Given the description of an element on the screen output the (x, y) to click on. 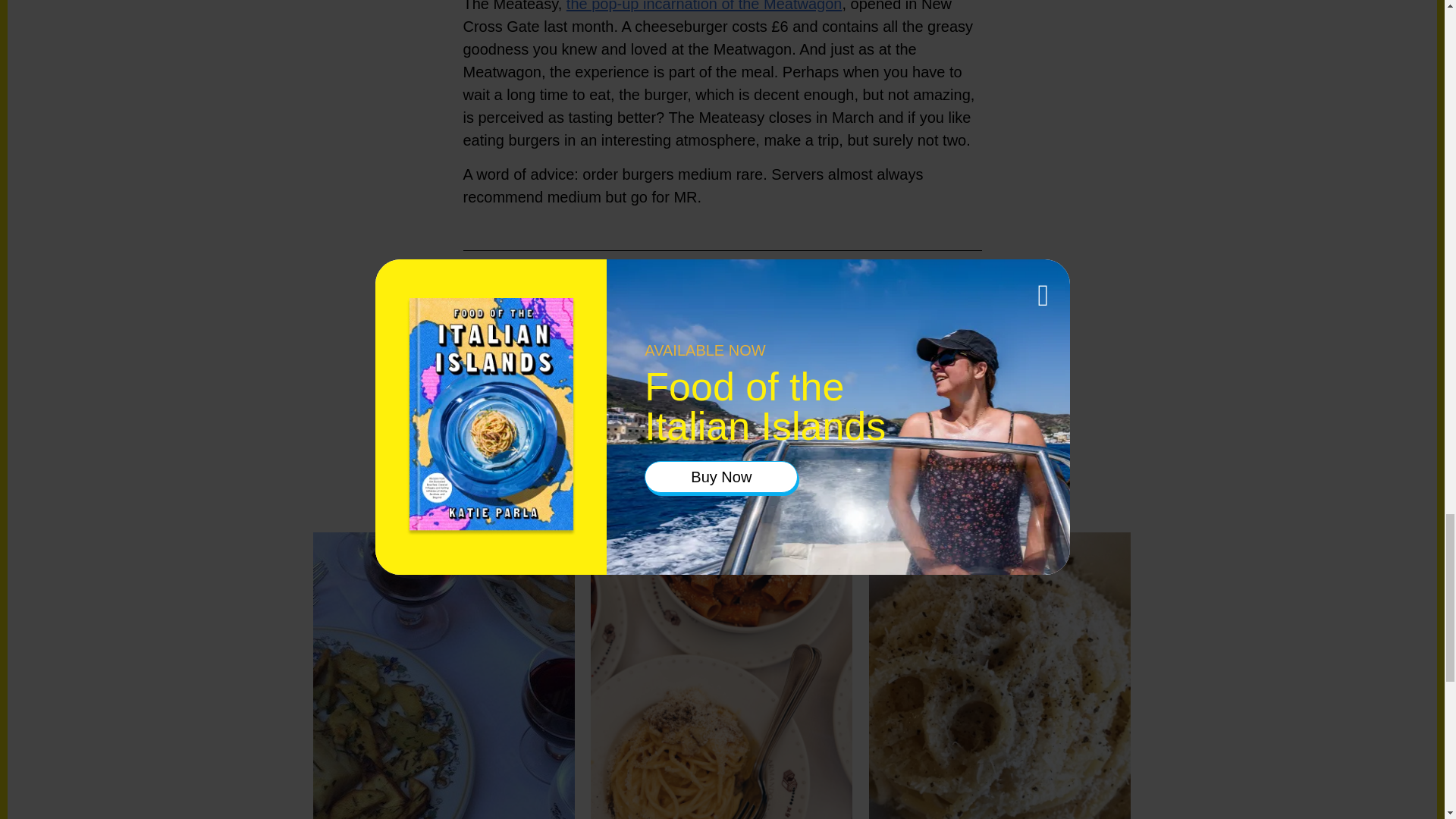
FACEBOOK (645, 320)
MEAT (921, 316)
rome-1 (720, 675)
ALL POSTS (519, 417)
Where to Eat in Rome on a Sunday (1000, 675)
LINKEDIN (529, 343)
al moro rome cervelli (443, 675)
RESTAURANTS (772, 331)
LONDON (881, 316)
Cacio e Pepe Katie Parla (1000, 675)
CULTURE (759, 316)
TWITTER (590, 320)
EMAIL (573, 343)
PINTEREST (534, 320)
